Given the description of an element on the screen output the (x, y) to click on. 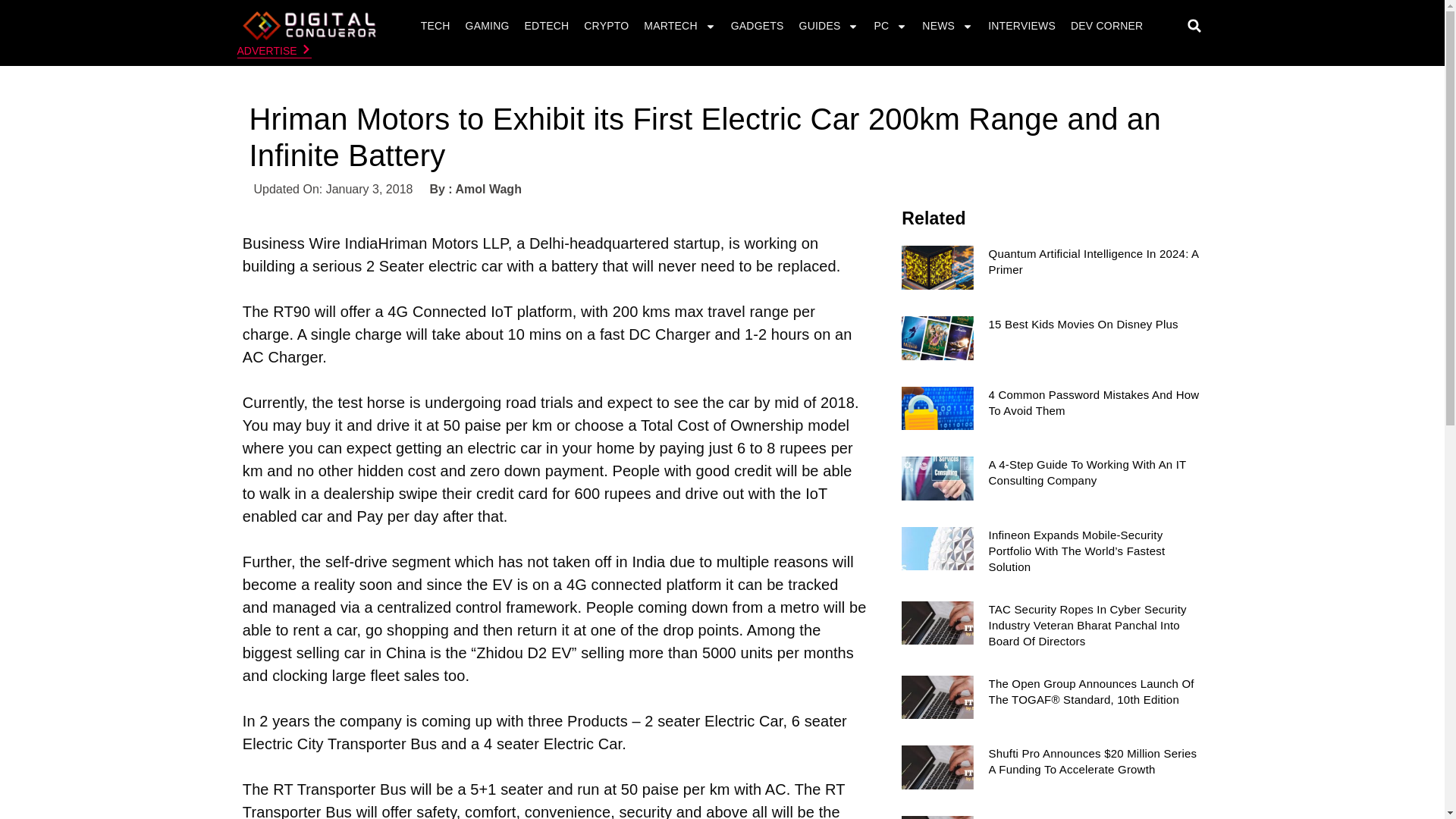
DEV CORNER (1107, 26)
CRYPTO (605, 26)
EDTECH (547, 26)
TECH (435, 26)
GAMING (487, 26)
PC (890, 26)
GUIDES (829, 26)
GADGETS (756, 26)
MARTECH (679, 26)
NEWS (947, 26)
INTERVIEWS (1021, 26)
